Given the description of an element on the screen output the (x, y) to click on. 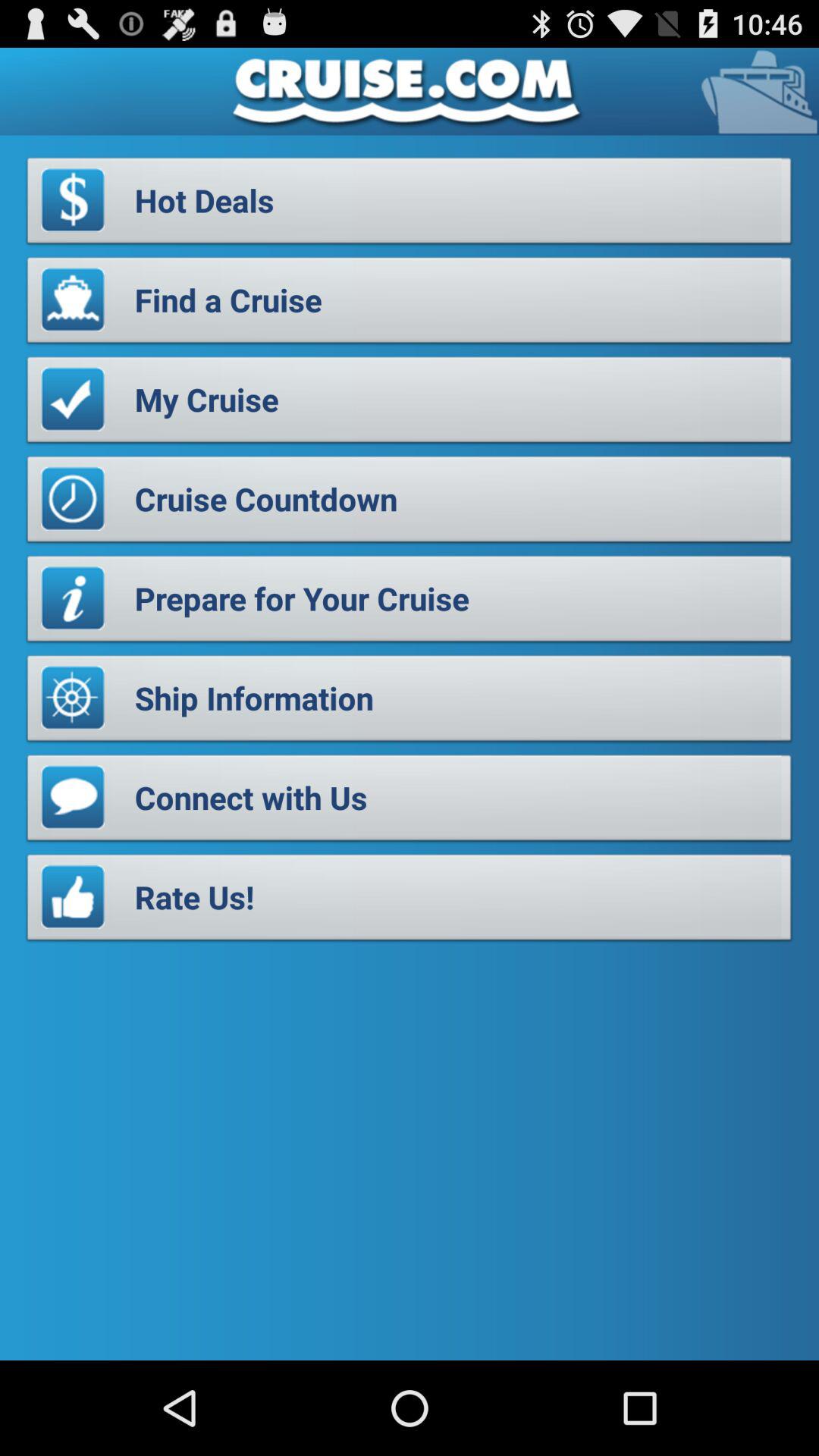
turn off the item below the prepare for your button (409, 702)
